Given the description of an element on the screen output the (x, y) to click on. 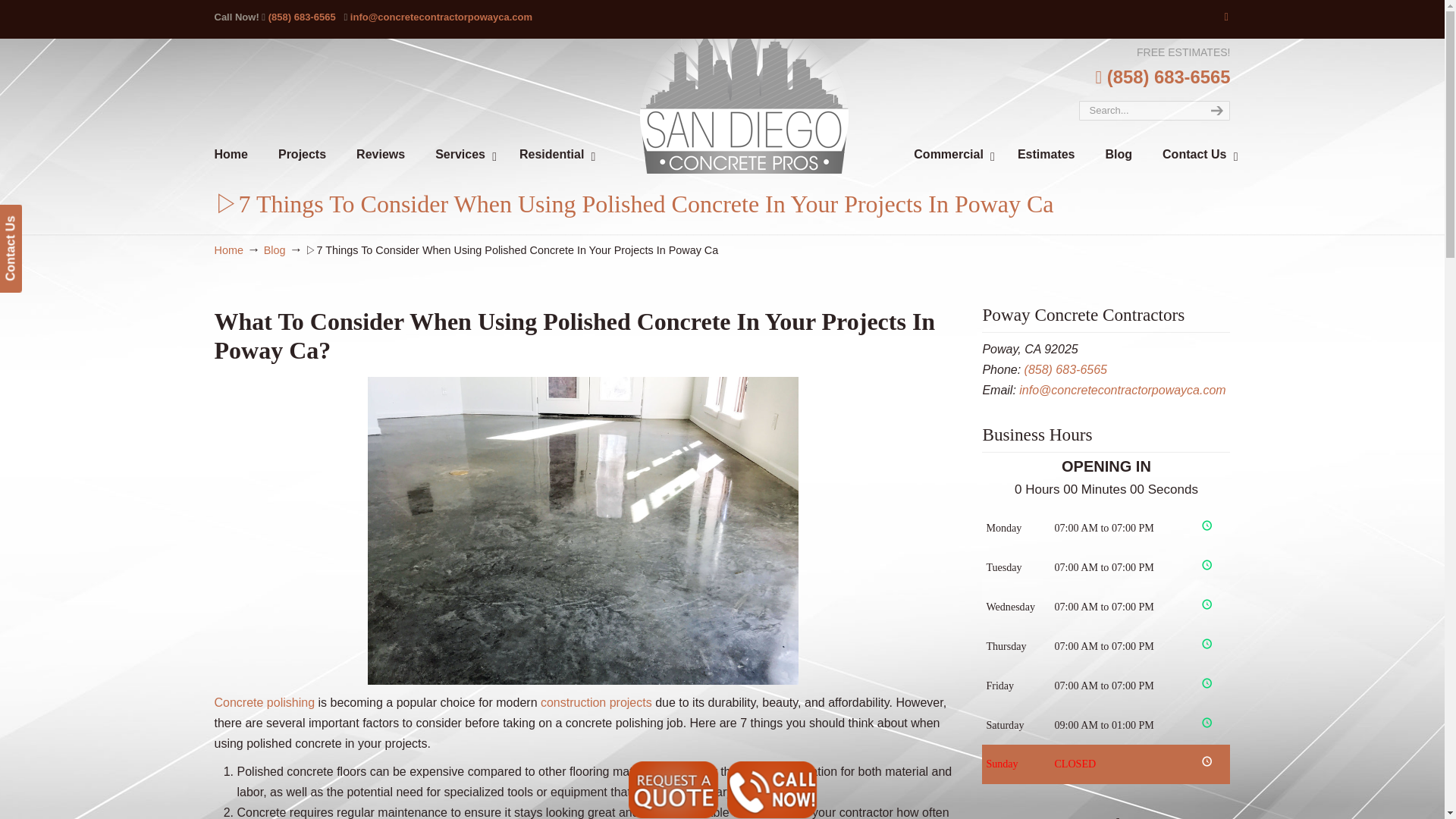
Phone (1065, 369)
search (1214, 110)
Contact Us (42, 215)
search (1214, 110)
Blog (274, 250)
Reviews (380, 154)
Contact Us (1195, 154)
search (1214, 110)
